Given the description of an element on the screen output the (x, y) to click on. 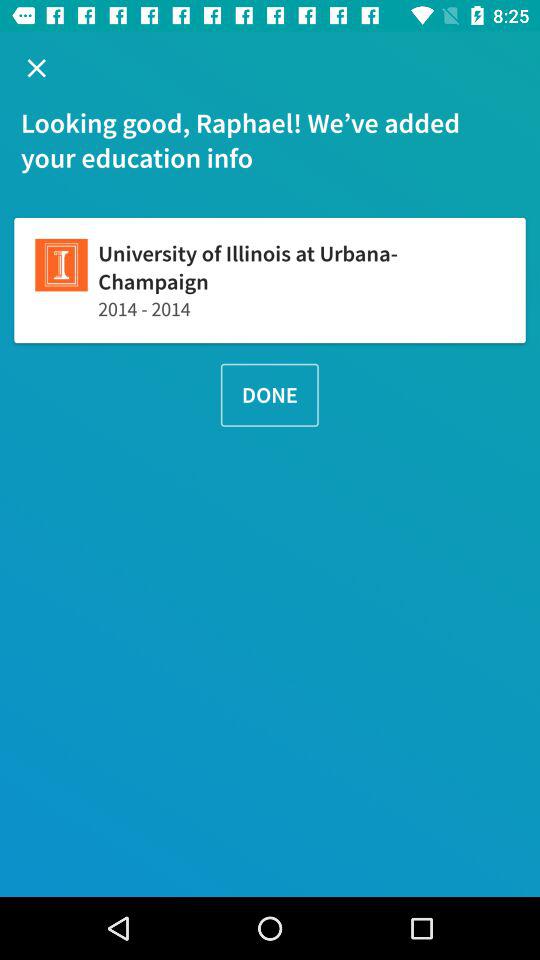
press icon above the looking good raphael item (36, 68)
